Given the description of an element on the screen output the (x, y) to click on. 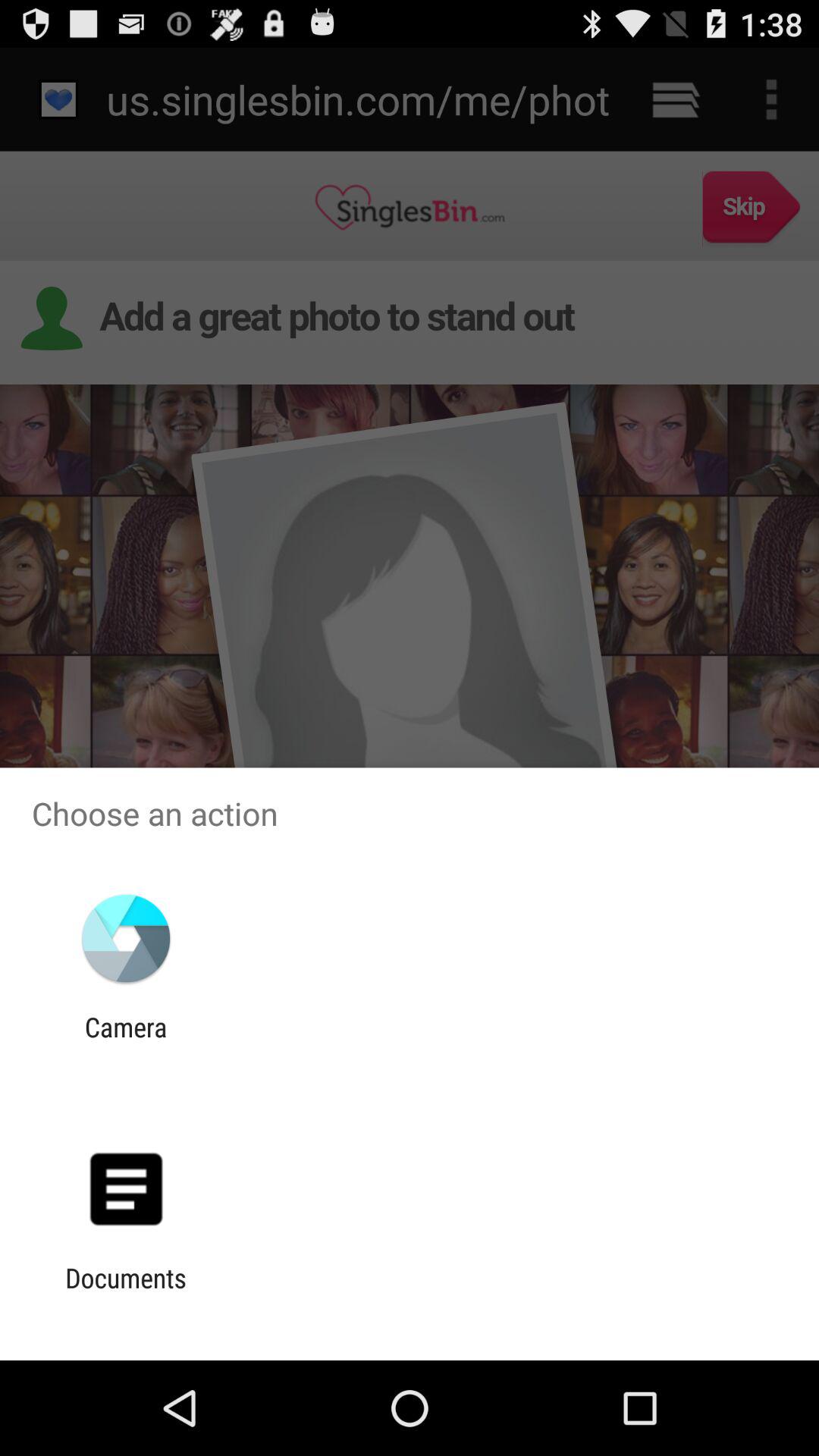
scroll until the camera icon (125, 1042)
